Given the description of an element on the screen output the (x, y) to click on. 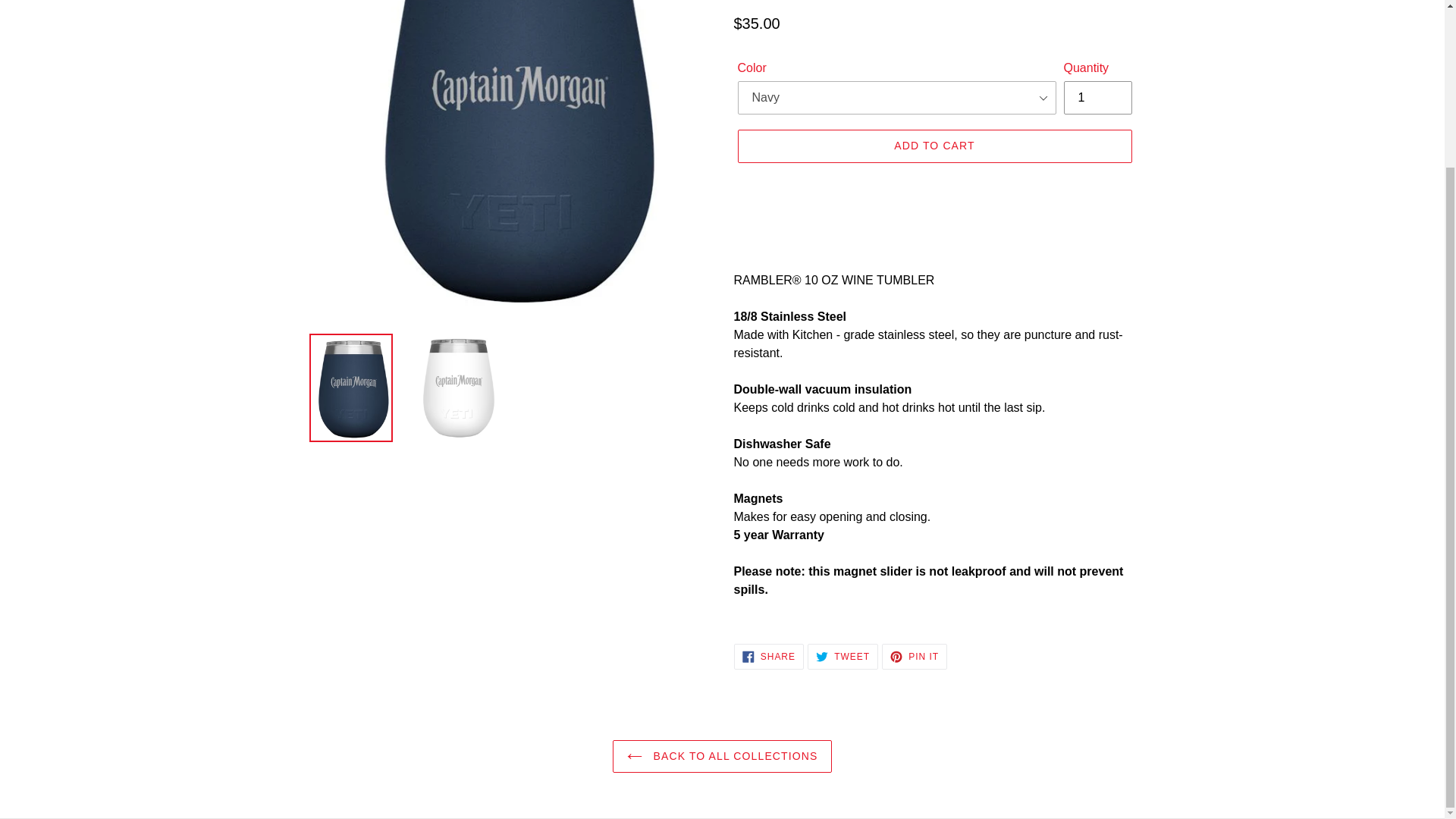
ADD TO CART (933, 145)
1 (914, 656)
BACK TO ALL COLLECTIONS (842, 656)
